Given the description of an element on the screen output the (x, y) to click on. 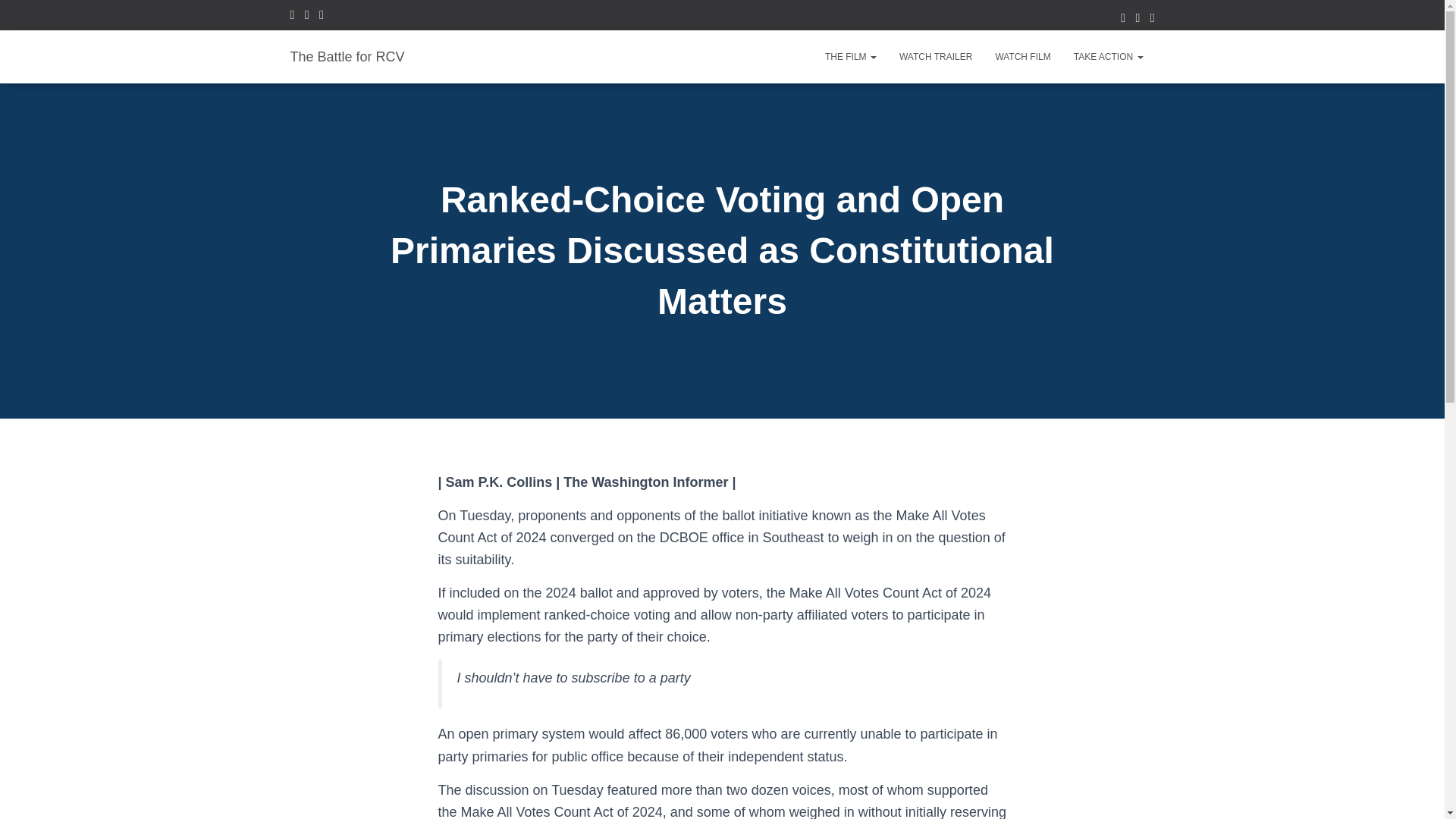
Take Action (1108, 56)
WATCH FILM (1022, 56)
Watch Trailer (936, 56)
Watch Film (1022, 56)
THE FILM (850, 56)
TAKE ACTION (1108, 56)
The Battle for RCV (347, 56)
The Film (850, 56)
The Battle for RCV (347, 56)
WATCH TRAILER (936, 56)
